Given the description of an element on the screen output the (x, y) to click on. 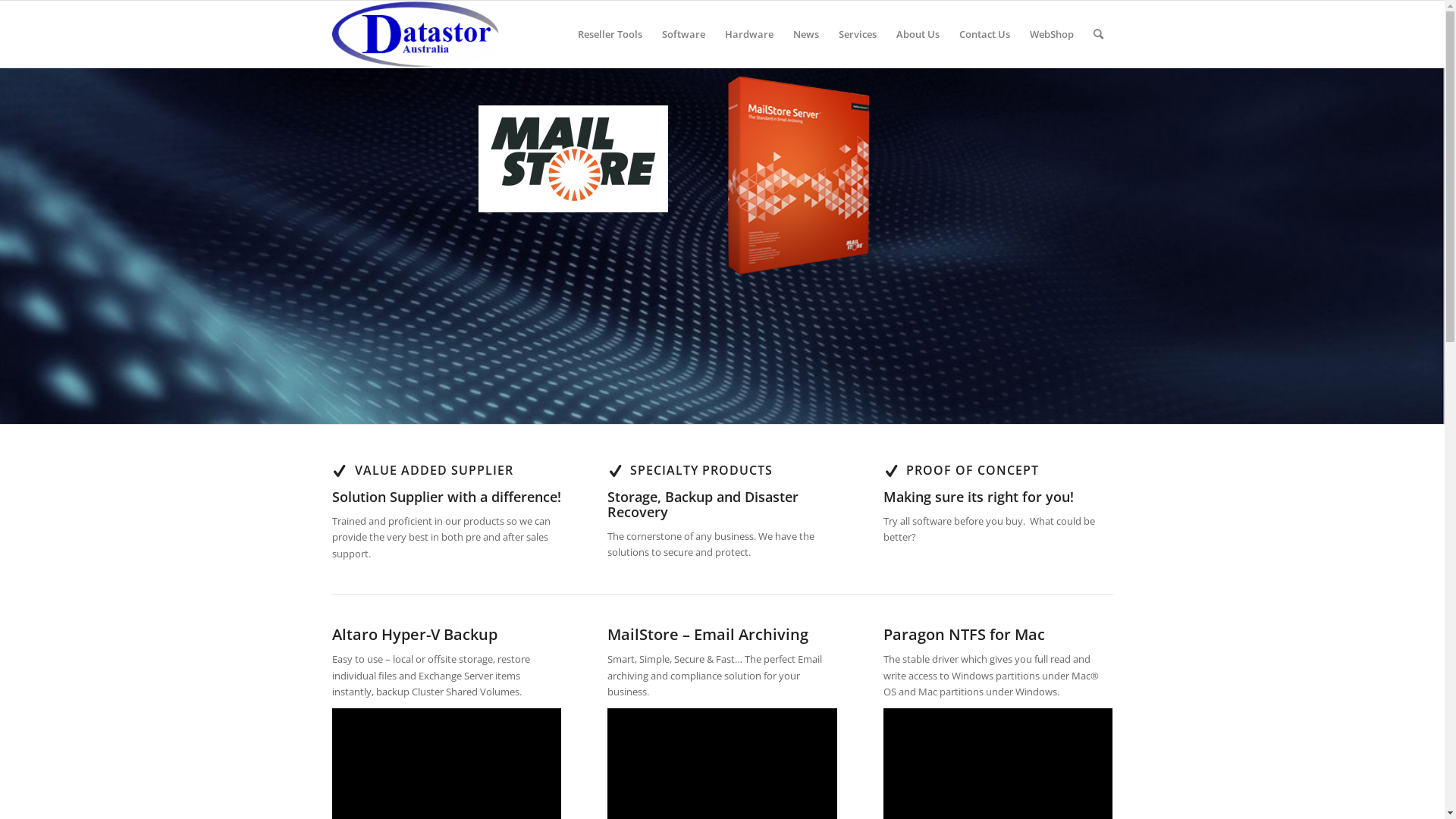
Software Element type: text (683, 33)
Hardware Element type: text (748, 33)
About Us Element type: text (916, 33)
Reseller Tools Element type: text (609, 33)
News Element type: text (805, 33)
Paragon NTFS for Mac Element type: text (963, 634)
Contact Us Element type: text (984, 33)
Altaro Hyper-V Backup Element type: text (414, 634)
Services Element type: text (856, 33)
WebShop Element type: text (1050, 33)
